Given the description of an element on the screen output the (x, y) to click on. 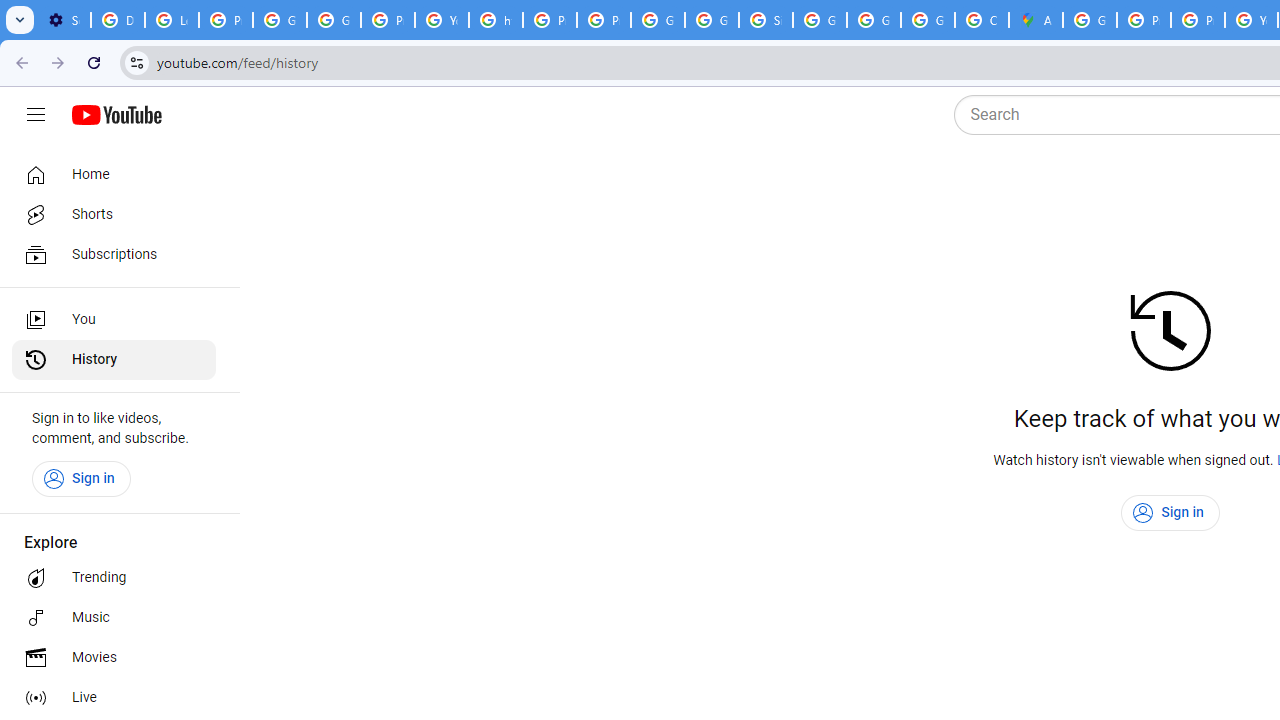
Trending (113, 578)
Live (113, 697)
https://scholar.google.com/ (495, 20)
Sign in - Google Accounts (765, 20)
Privacy Help Center - Policies Help (1197, 20)
Music (113, 617)
Create your Google Account (981, 20)
Settings - On startup (63, 20)
YouTube (441, 20)
